Given the description of an element on the screen output the (x, y) to click on. 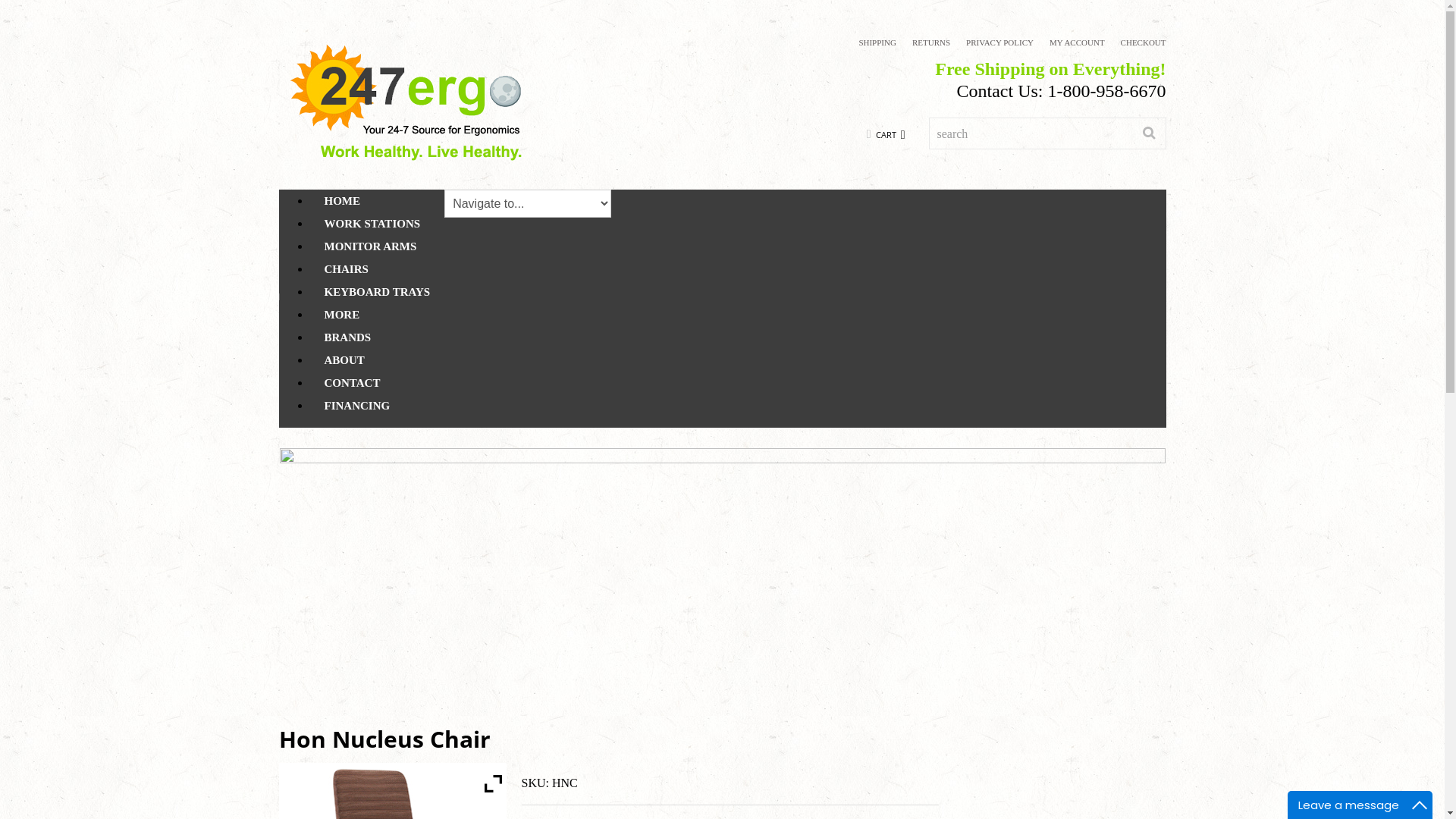
ABOUT Element type: text (343, 358)
FINANCING Element type: text (356, 404)
CHAIRS Element type: text (345, 267)
SHIPPING Element type: text (877, 42)
KEYBOARD TRAYS Element type: text (376, 290)
CONTACT Element type: text (351, 381)
WORK STATIONS Element type: text (371, 222)
CHECKOUT Element type: text (1143, 42)
MORE Element type: text (341, 313)
RETURNS Element type: text (931, 42)
MONITOR ARMS Element type: text (369, 245)
Go Element type: text (1150, 133)
BRANDS Element type: text (347, 336)
Maximize Element type: hover (1419, 805)
PRIVACY POLICY Element type: text (999, 42)
MY ACCOUNT Element type: text (1076, 42)
HOME Element type: text (341, 199)
